Given the description of an element on the screen output the (x, y) to click on. 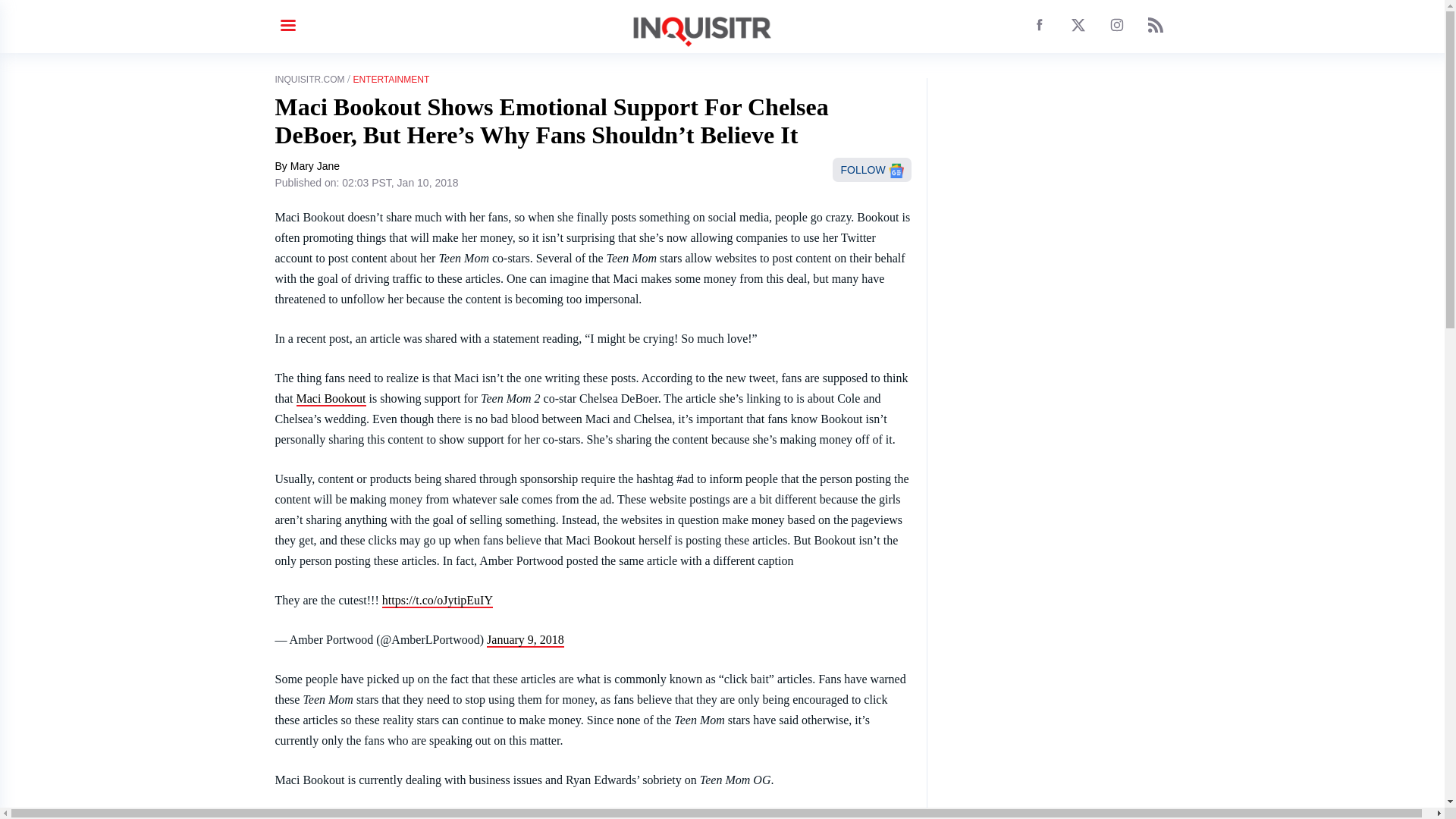
INQUISITR.COM (309, 79)
ENTERTAINMENT (390, 79)
